Given the description of an element on the screen output the (x, y) to click on. 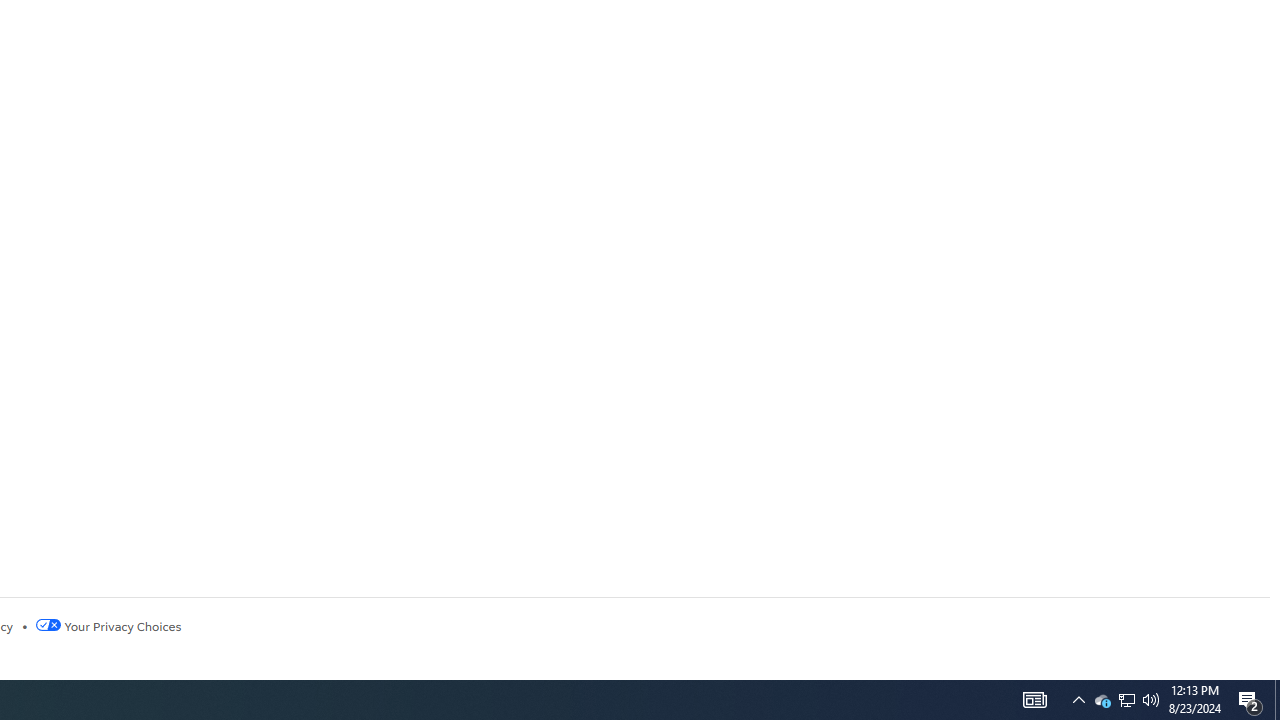
 Your Privacy Choices (108, 626)
